Given the description of an element on the screen output the (x, y) to click on. 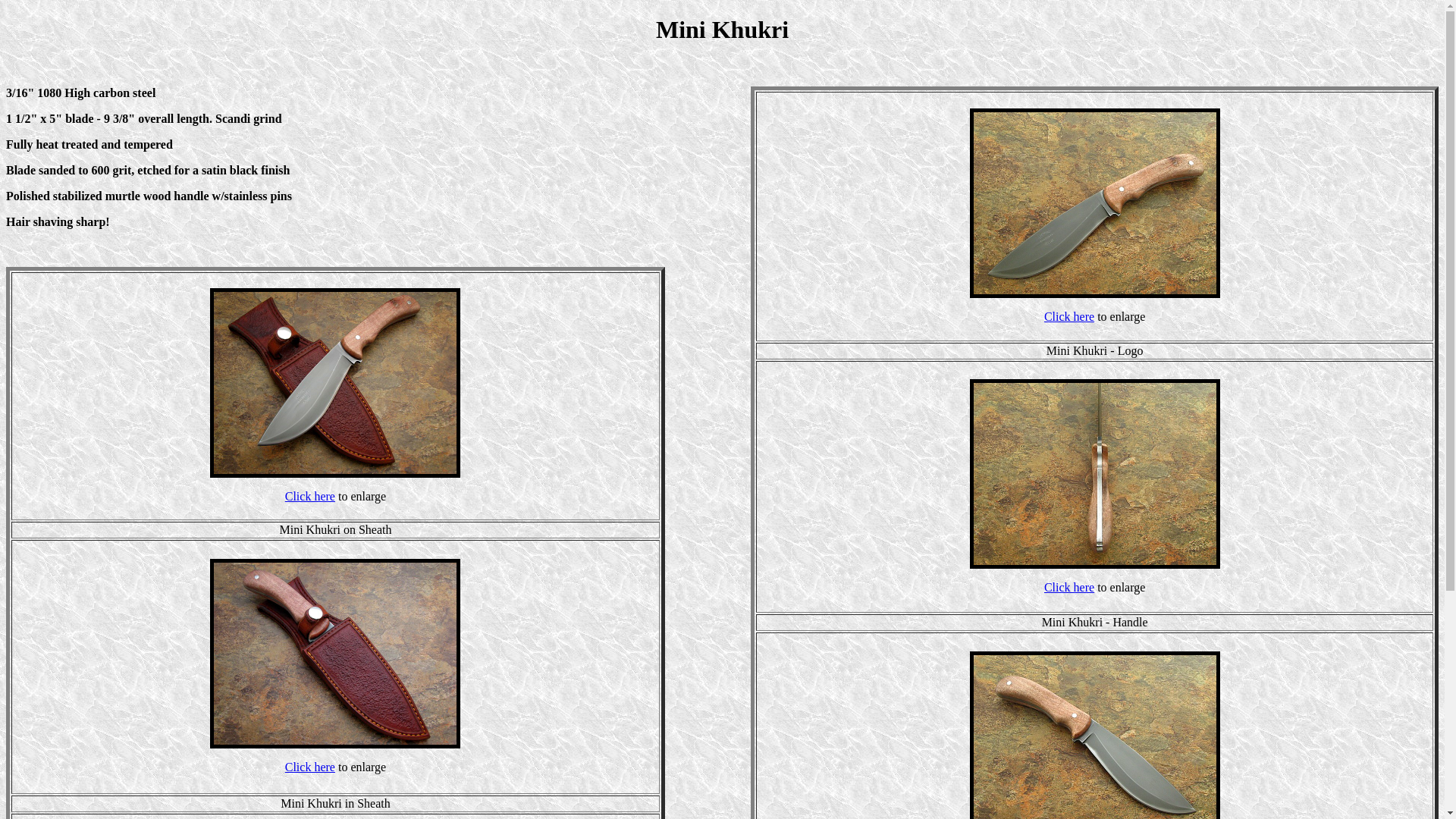
Click here Element type: text (1069, 316)
Click here Element type: text (1069, 586)
Click here Element type: text (310, 495)
Click here Element type: text (310, 766)
